Given the description of an element on the screen output the (x, y) to click on. 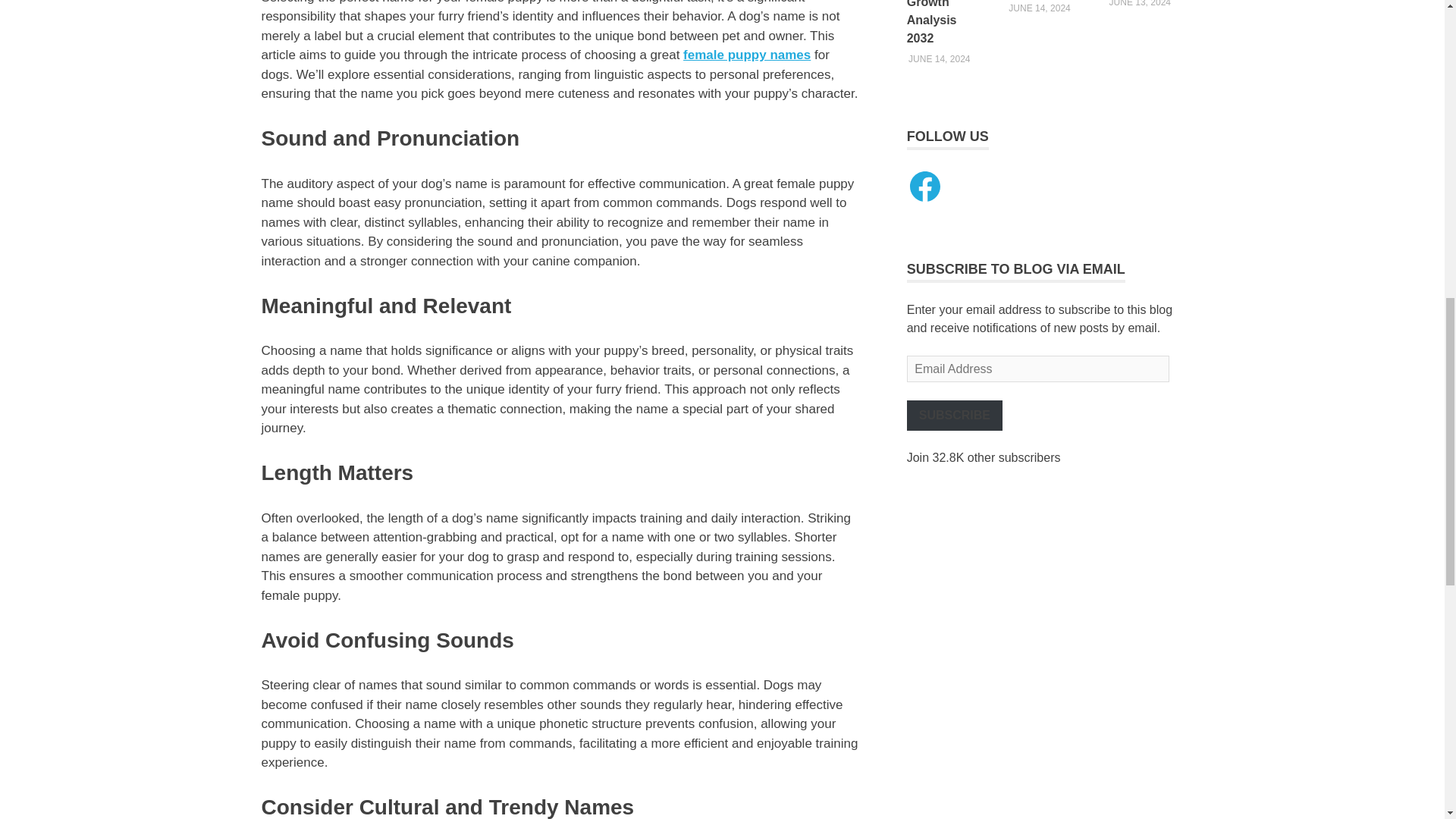
9:54 am (1039, 8)
11:07 am (938, 59)
female puppy names (746, 54)
